Given the description of an element on the screen output the (x, y) to click on. 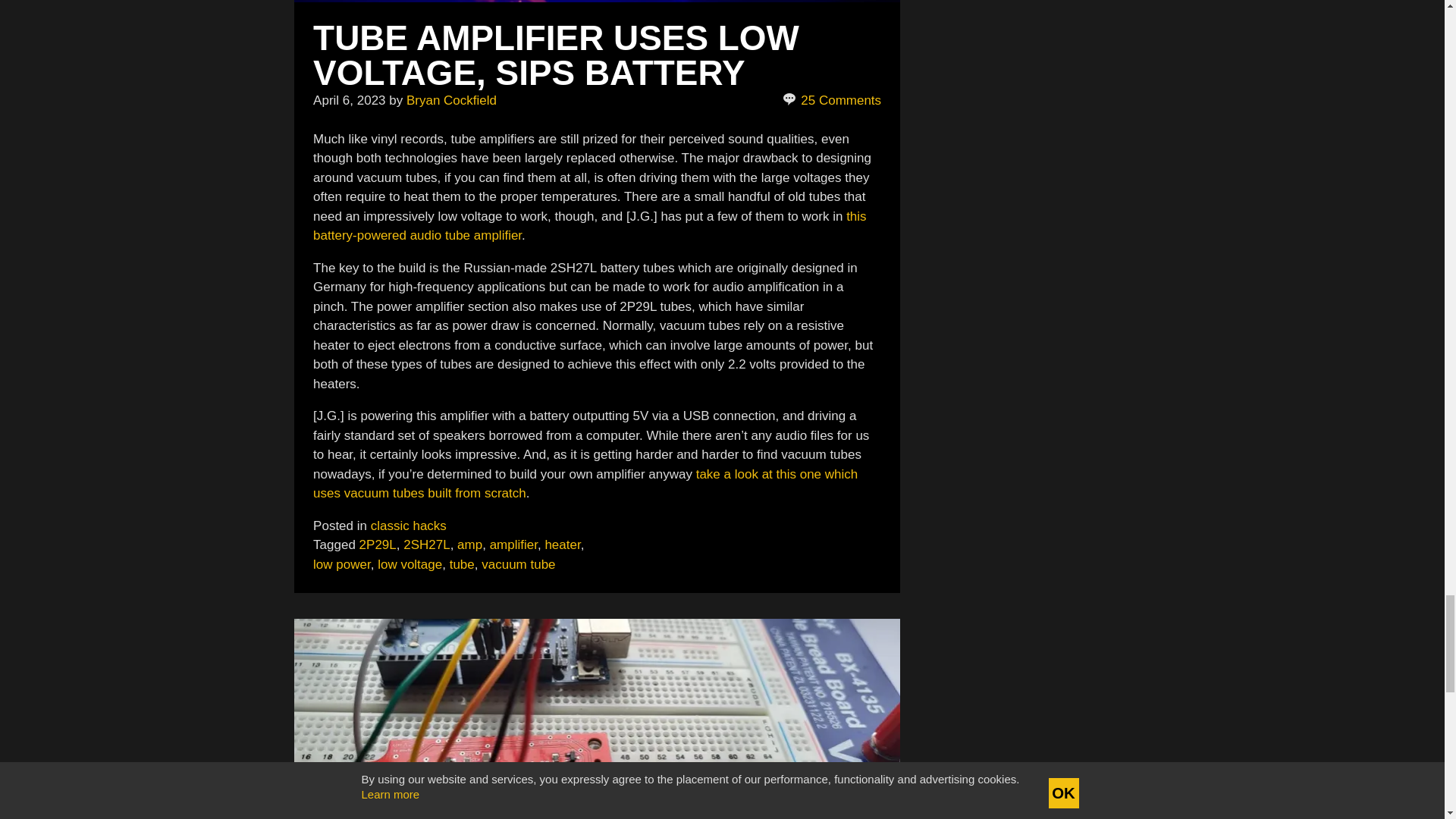
April 6, 2023 - 10:00 pm (349, 100)
Posts by Bryan Cockfield (451, 100)
